Given the description of an element on the screen output the (x, y) to click on. 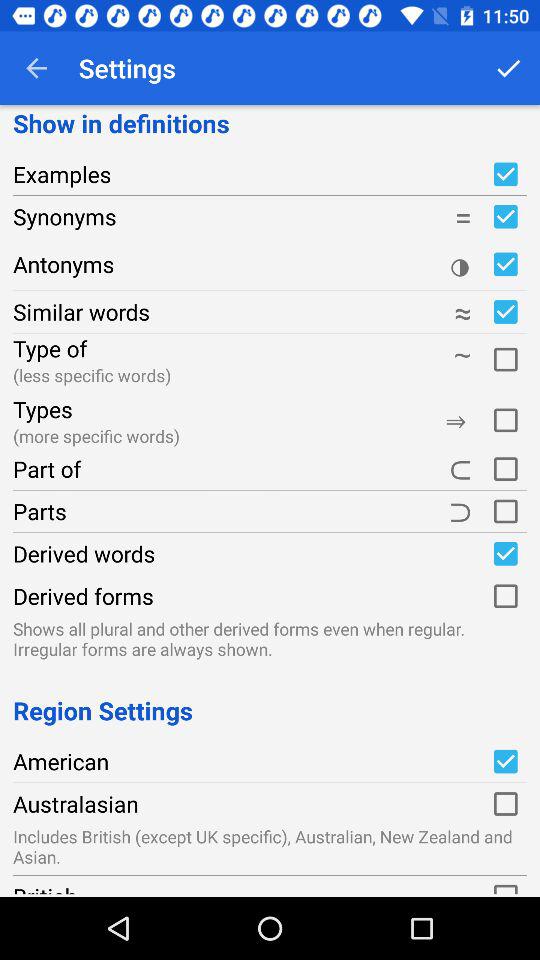
with this option on it shows words that are close in meaning to the word you are looking for (505, 312)
